Given the description of an element on the screen output the (x, y) to click on. 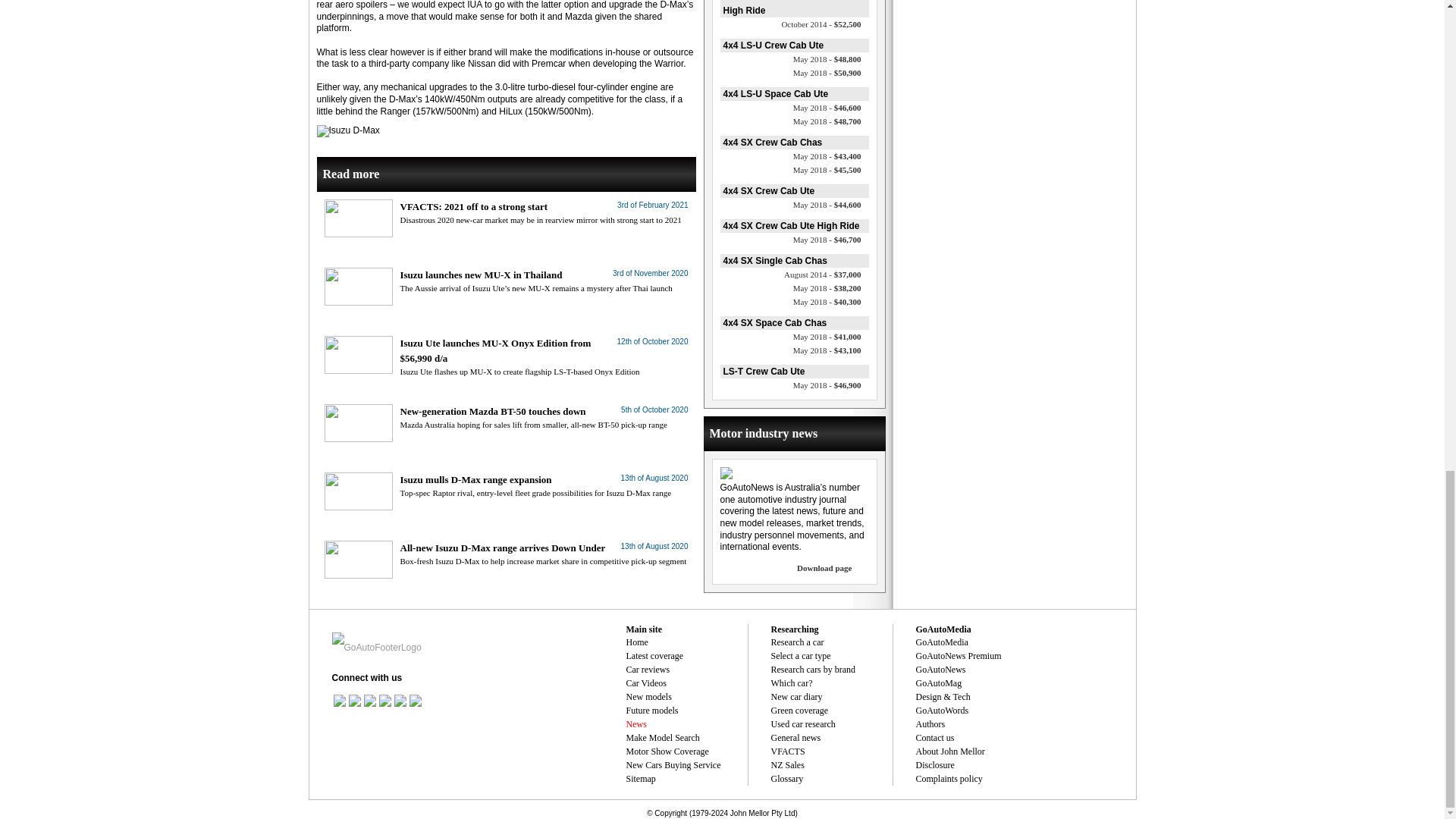
Isuzu D-Max (348, 131)
